Given the description of an element on the screen output the (x, y) to click on. 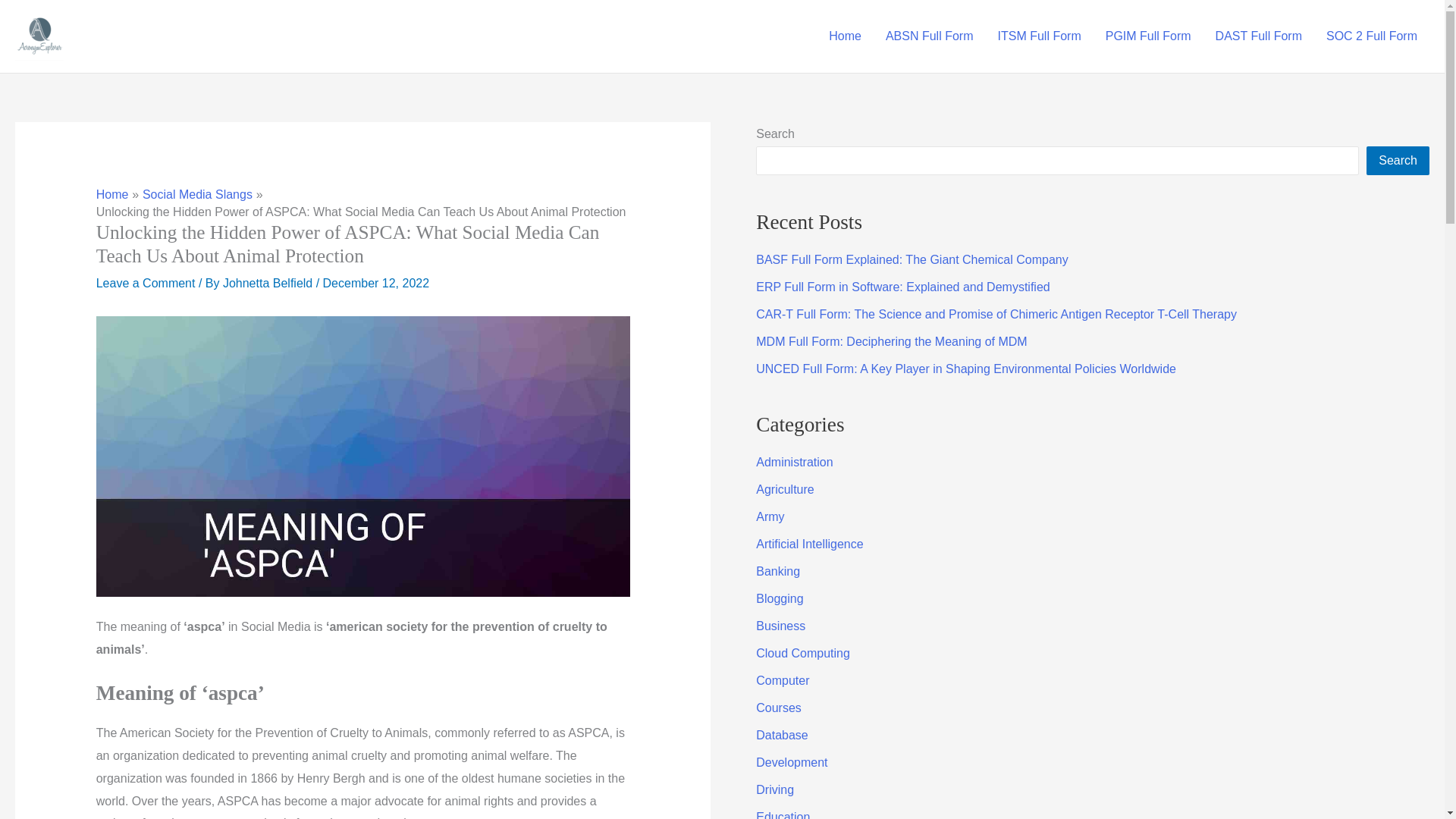
PGIM Full Form (1148, 35)
Johnetta Belfield (268, 282)
ERP Full Form in Software: Explained and Demystified (902, 286)
View all posts by Johnetta Belfield (268, 282)
BASF Full Form Explained: The Giant Chemical Company (911, 259)
Search (1398, 160)
Home (112, 194)
ITSM Full Form (1039, 35)
Home (844, 35)
SOC 2 Full Form (1371, 35)
MDM Full Form: Deciphering the Meaning of MDM (890, 341)
Leave a Comment (145, 282)
Social Media Slangs (196, 194)
